Given the description of an element on the screen output the (x, y) to click on. 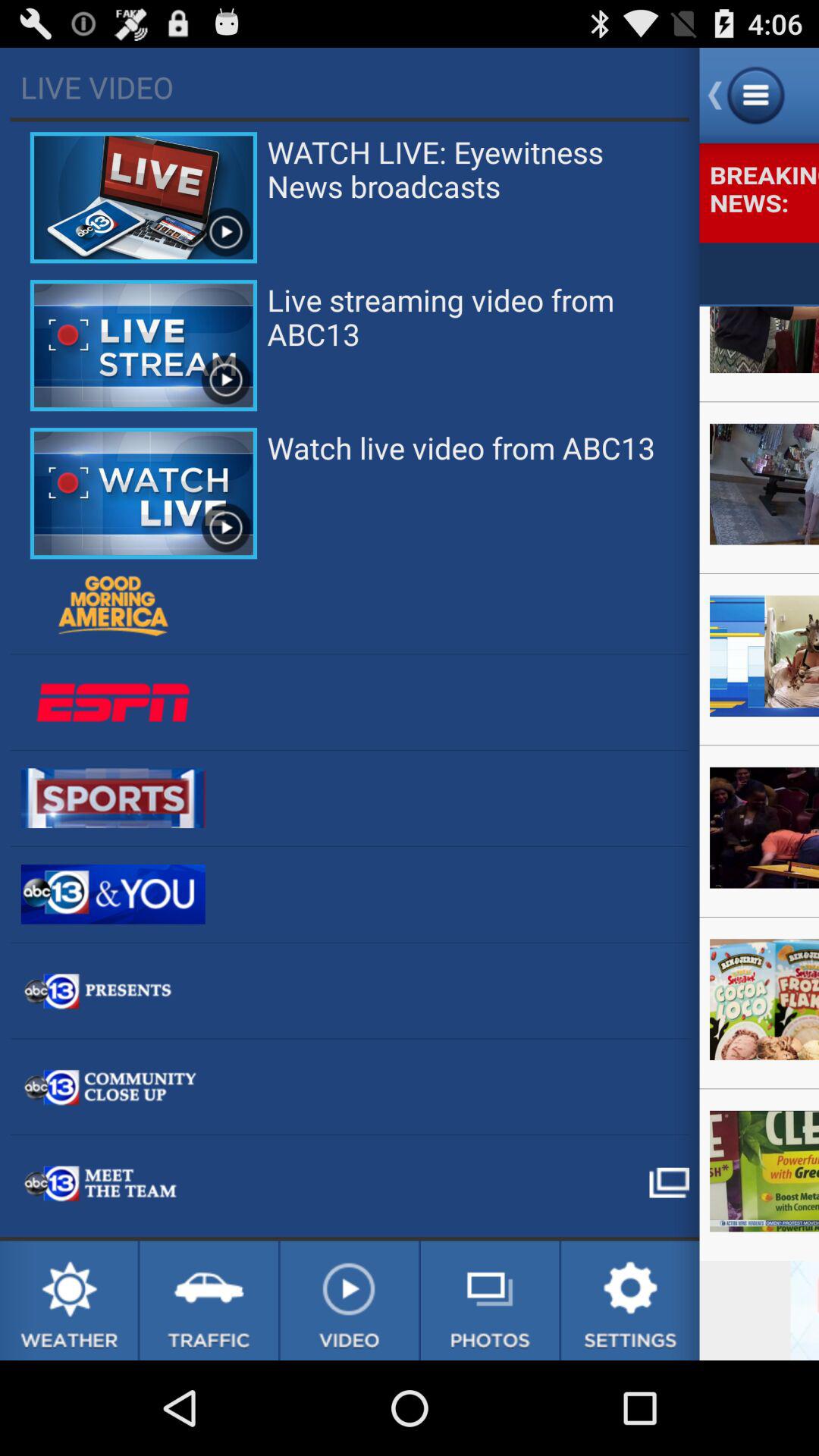
go to settings (630, 1300)
